Given the description of an element on the screen output the (x, y) to click on. 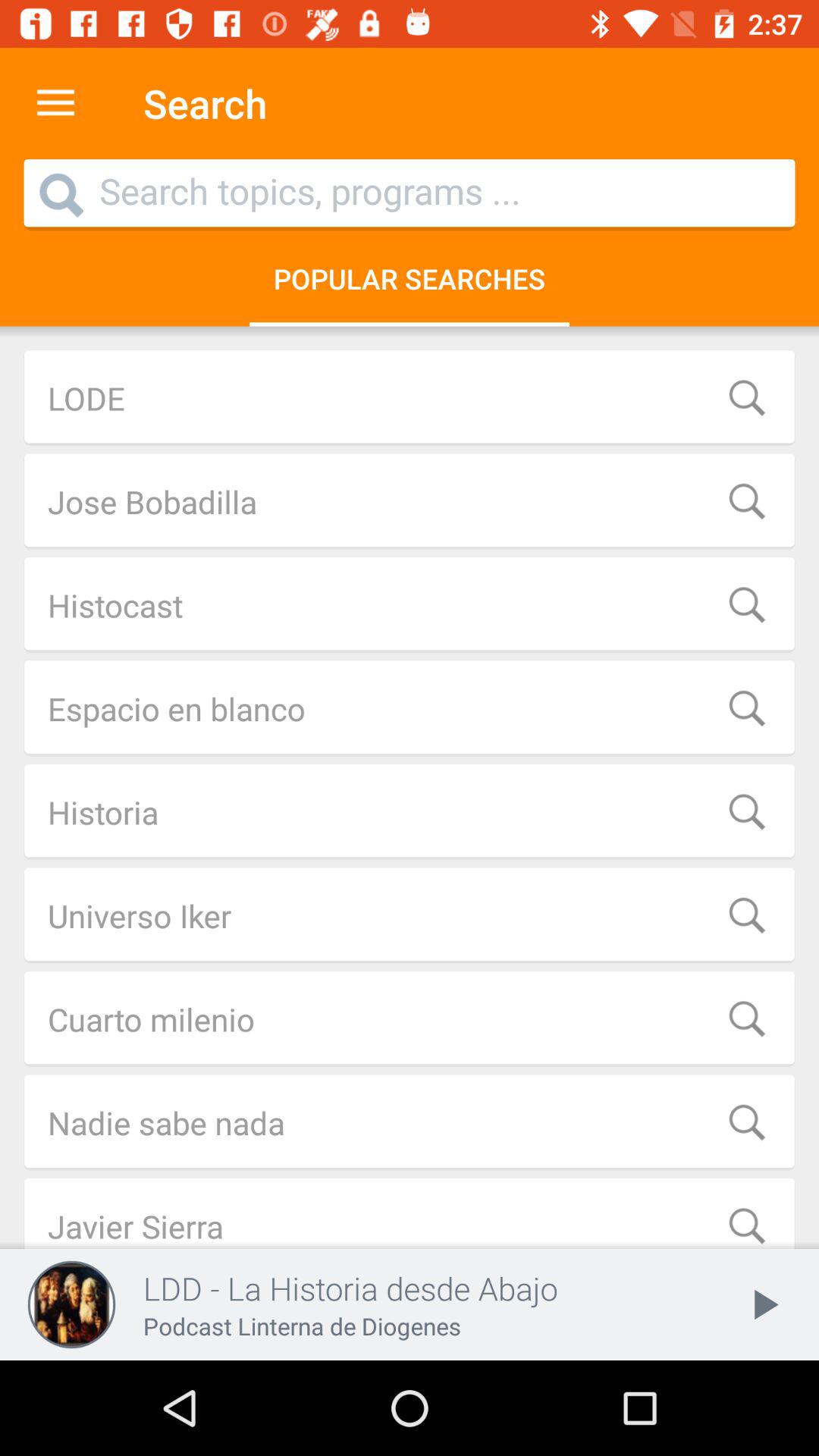
flip until jose bobadilla item (409, 501)
